Given the description of an element on the screen output the (x, y) to click on. 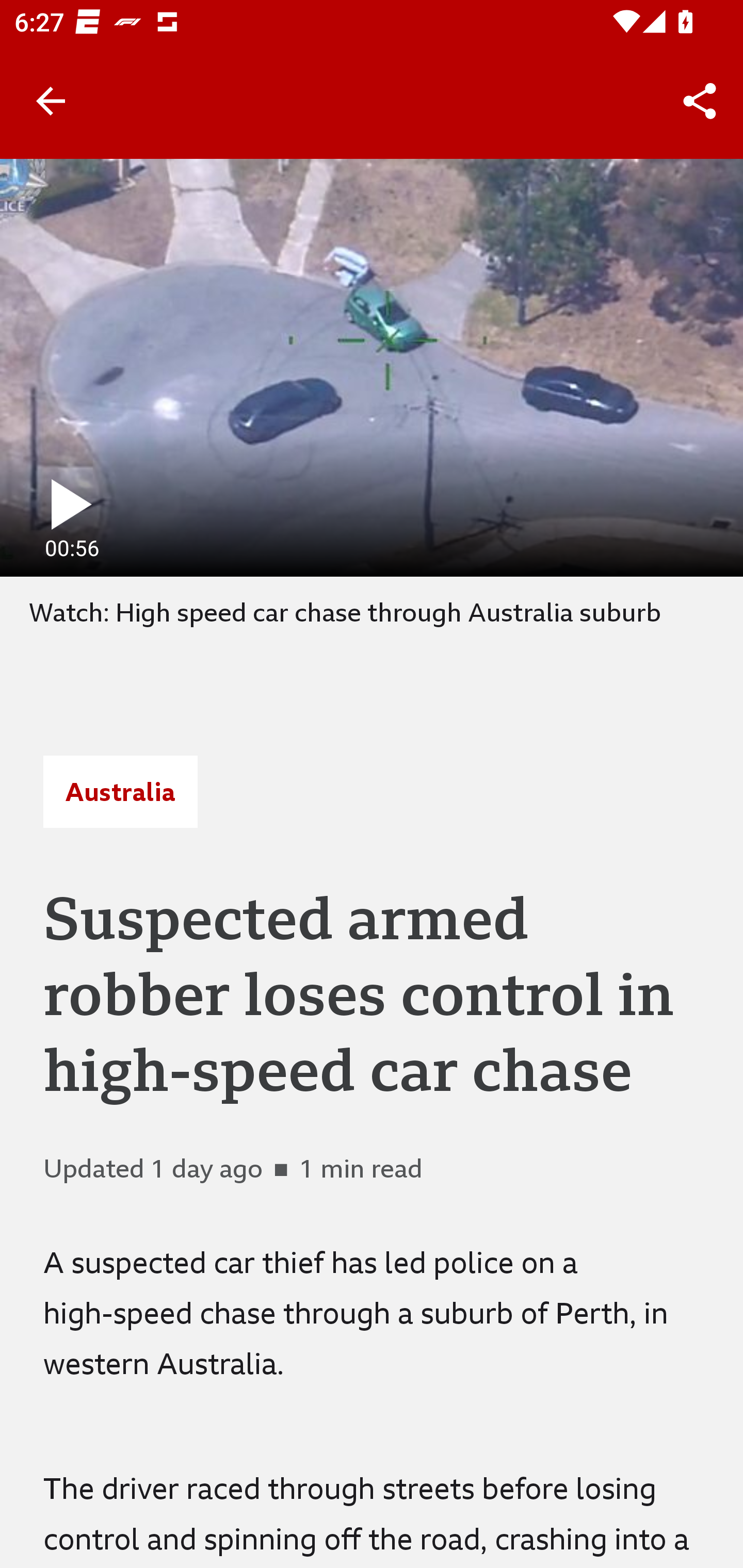
Back (50, 101)
Share (699, 101)
play fullscreen 00:56 0 minutes, 56 seconds (371, 367)
Australia (120, 791)
